Given the description of an element on the screen output the (x, y) to click on. 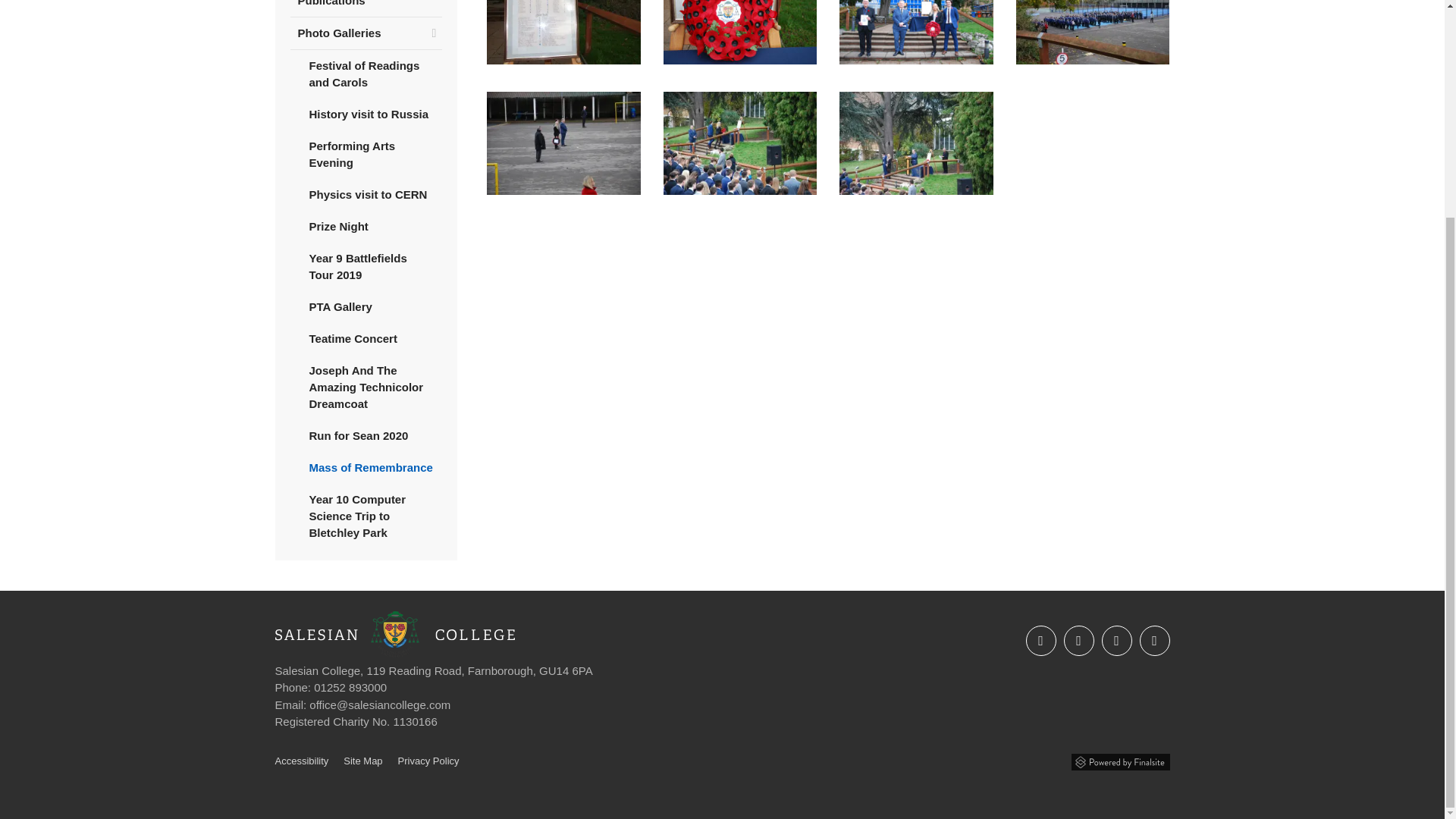
Powered by Finalsite opens in a new window (1119, 758)
home (394, 653)
